Given the description of an element on the screen output the (x, y) to click on. 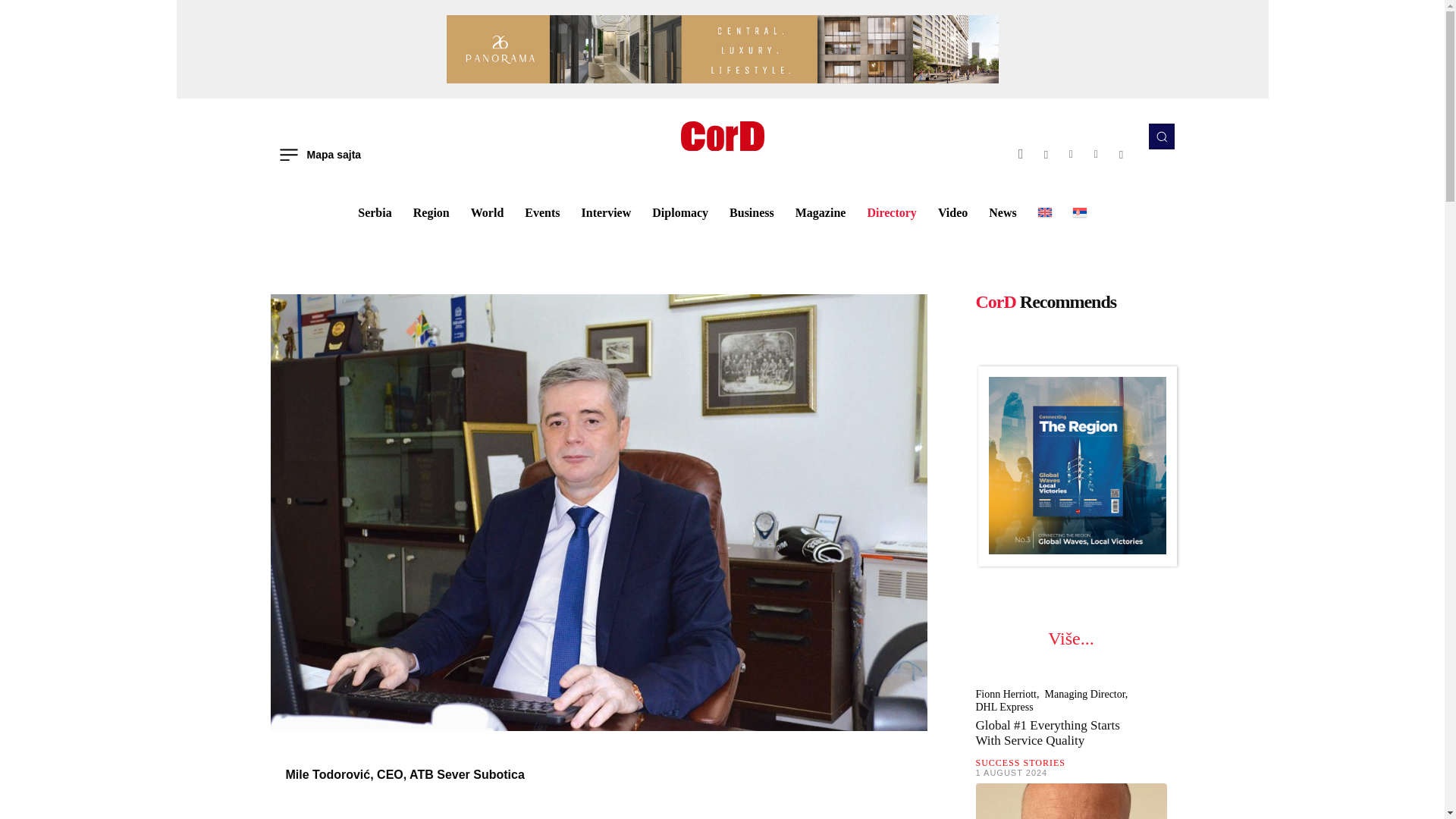
Instagram (1045, 154)
Twitter (1095, 154)
Facebook (1021, 154)
CorD Magazine (722, 135)
Youtube (1121, 154)
Linkedin (1070, 154)
